Given the description of an element on the screen output the (x, y) to click on. 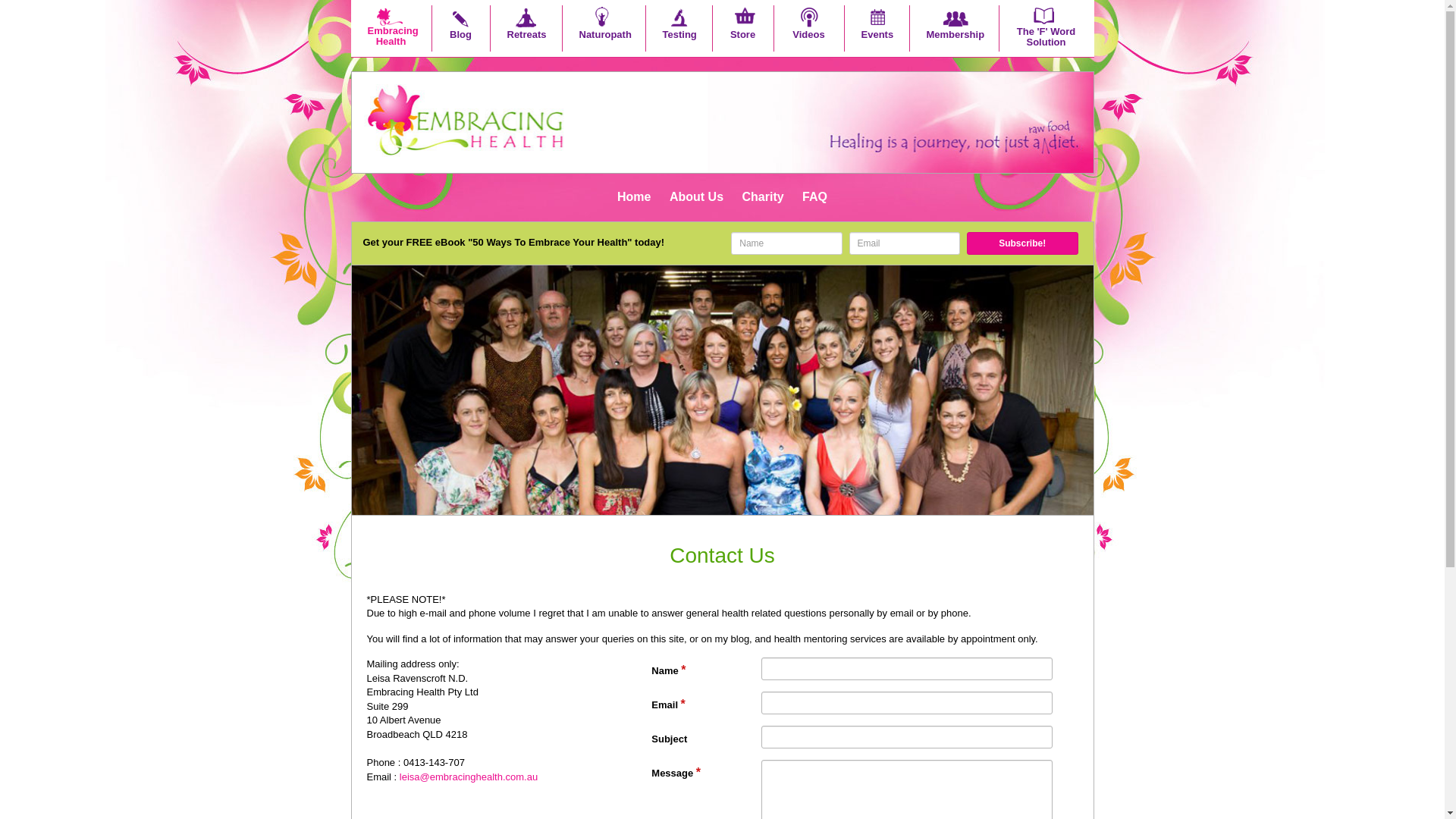
Embracing Health (389, 29)
Naturopath (603, 29)
Charity (761, 196)
Membership (953, 29)
Home (634, 196)
Charity (761, 196)
About Us (696, 196)
FAQ (814, 196)
Subscribe! (1022, 242)
The 'F' Word Solution (1046, 29)
FAQ (814, 196)
Home (634, 196)
About Us (696, 196)
